Given the description of an element on the screen output the (x, y) to click on. 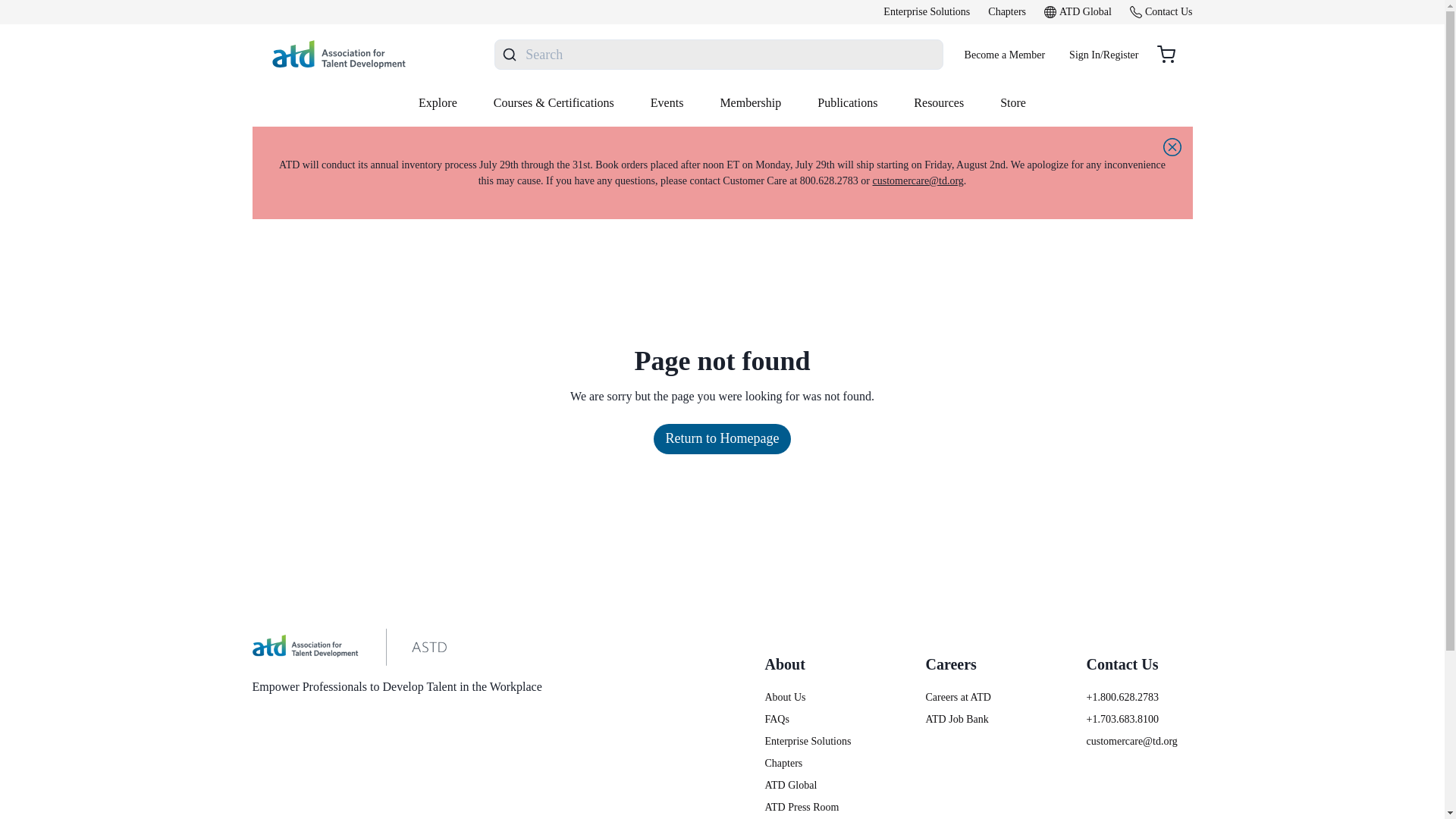
About Us (817, 697)
Enterprise Solutions (926, 12)
Empower Professionals to Develop Talent in the Workplace (396, 662)
Membership (750, 103)
Become a Member (1005, 54)
Return to Homepage (722, 439)
ATD Job Bank (977, 719)
ATD Global (1077, 12)
Chapters (1007, 12)
Chapters (817, 763)
Resources (938, 103)
Enterprise Solutions (817, 741)
FAQs (817, 719)
Events (667, 103)
ATD Global (817, 785)
